Given the description of an element on the screen output the (x, y) to click on. 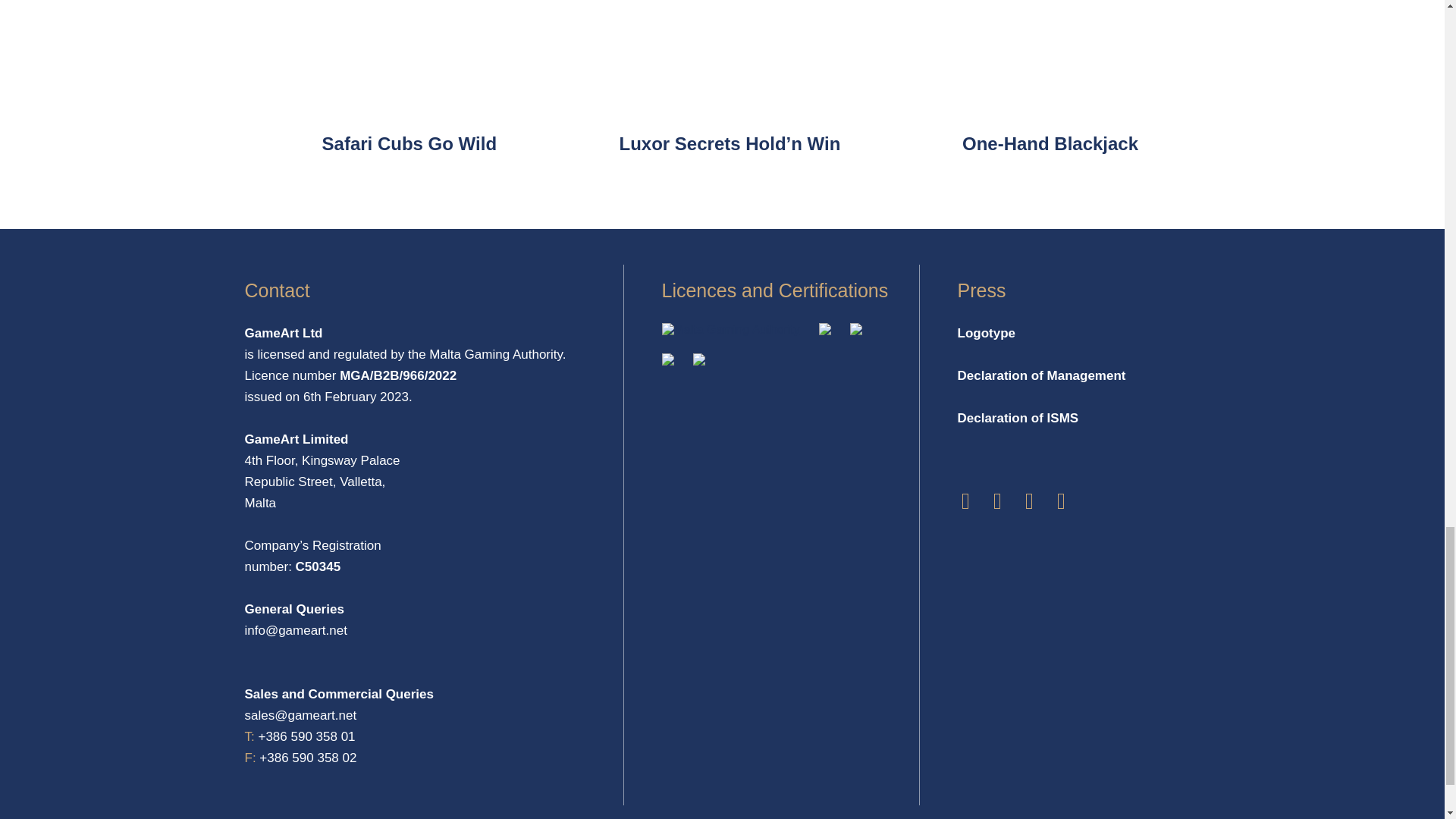
One-Hand Blackjack (1050, 143)
Safari Cubs Go Wild (408, 143)
Safari Cubs Go Wild (408, 143)
Certificates download (666, 360)
agenziadoganemonopoli.gov.it (824, 330)
quinel.com (698, 360)
authorisation.mga.org.mt (730, 328)
gaminglabs.com (855, 330)
Declaration of ISMS (1017, 418)
One-Hand Blackjack (1050, 143)
Logotype (985, 332)
GameArt logo download (985, 332)
Declaration of Management (1040, 375)
